Given the description of an element on the screen output the (x, y) to click on. 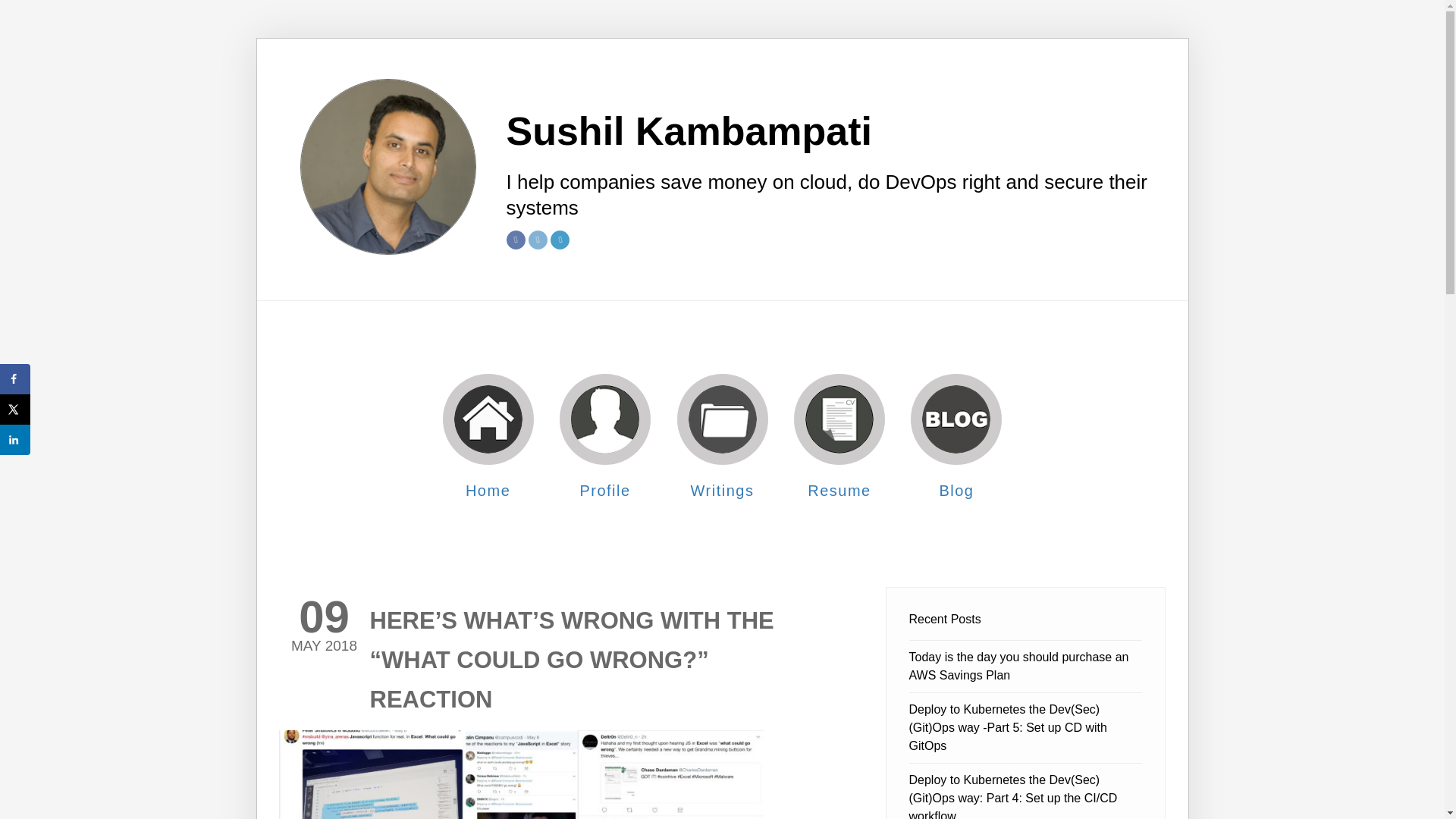
Today is the day you should purchase an AWS Savings Plan (1018, 665)
LinkedIn (559, 239)
Facebook (515, 239)
Twitter (537, 239)
Sushil Kambampati (836, 130)
Share on X (15, 409)
Share on Facebook (15, 378)
Share on LinkedIn (15, 440)
